Given the description of an element on the screen output the (x, y) to click on. 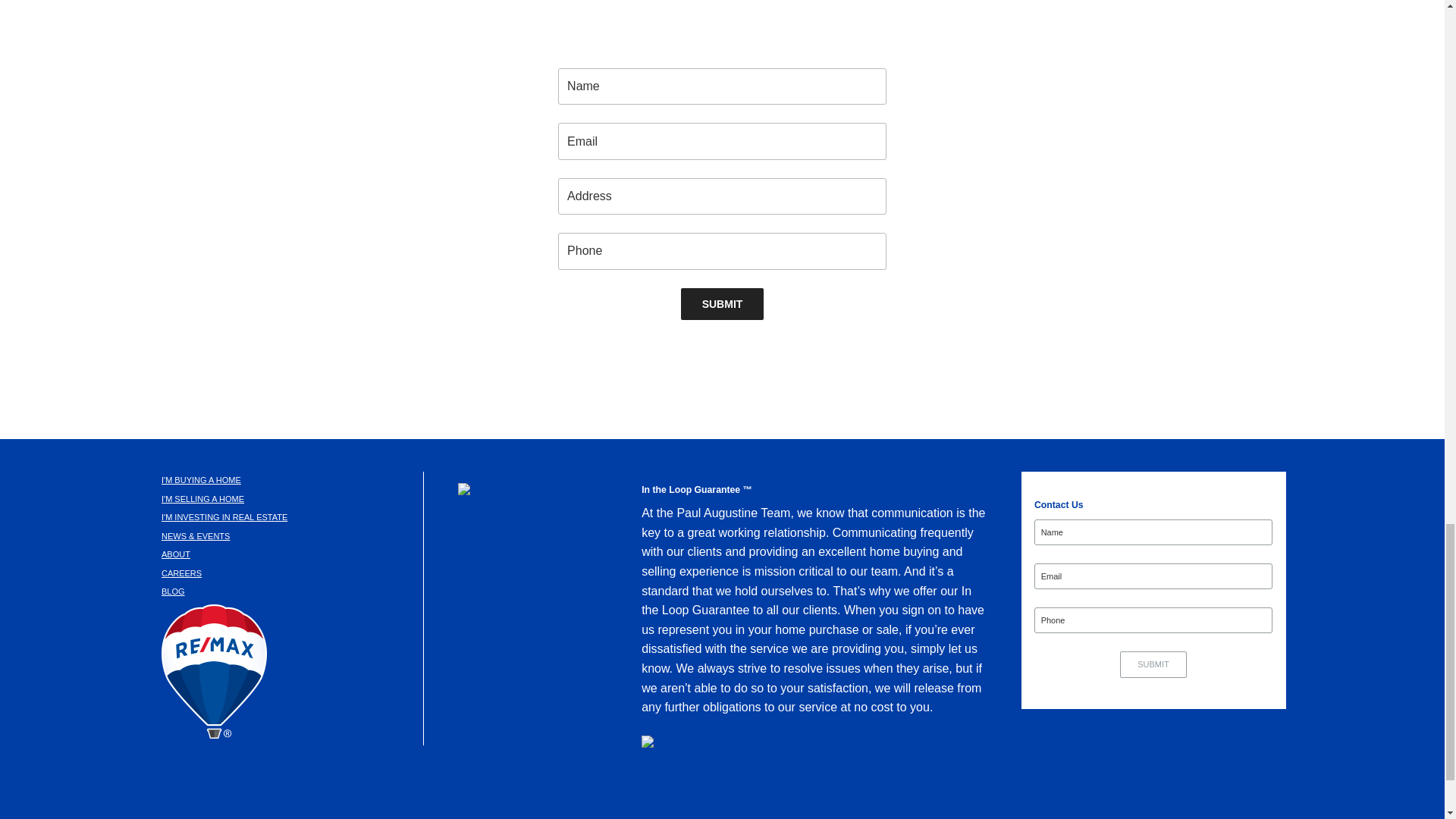
YouTube (863, 795)
I'M INVESTING IN REAL ESTATE (223, 516)
I'M SELLING A HOME (202, 498)
Instagram (713, 795)
SUBMIT (722, 304)
Facebook (570, 795)
SUBMIT (722, 304)
Twitter (641, 795)
ABOUT (175, 553)
CAREERS (181, 573)
SUBMIT (1152, 664)
BLOG (172, 591)
SUBMIT (1152, 664)
Pinterest (789, 795)
I'M BUYING A HOME (201, 479)
